Given the description of an element on the screen output the (x, y) to click on. 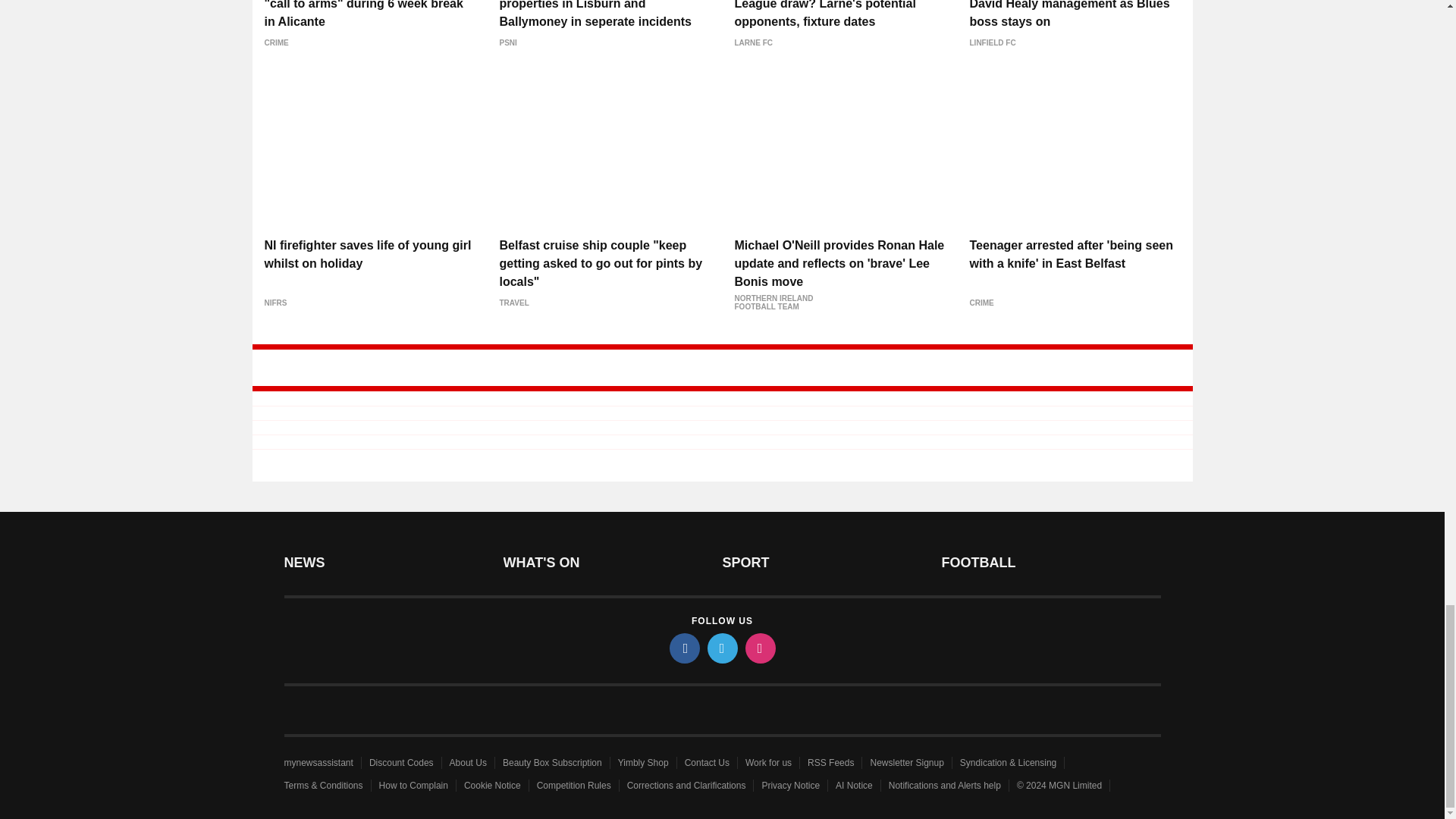
instagram (759, 648)
facebook (683, 648)
twitter (721, 648)
